Given the description of an element on the screen output the (x, y) to click on. 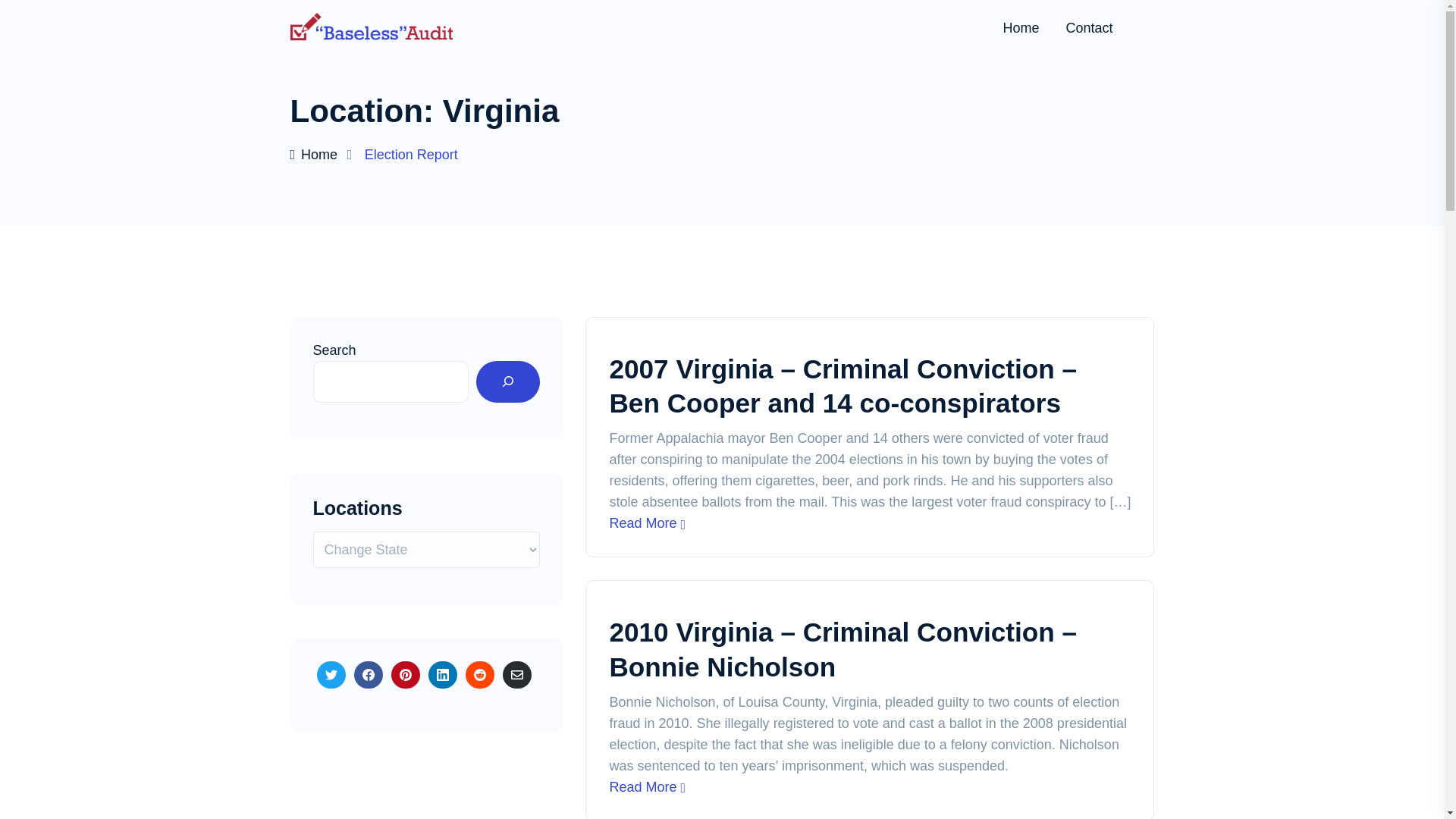
Share on Twitter (331, 674)
Share via Email (516, 674)
Share on Twitter (331, 674)
Share on Facebook (367, 674)
Home (313, 154)
Share on Reddit (480, 674)
Share via Email (516, 674)
Share on Pinterest (405, 674)
Share on LinkedIn (442, 674)
Share on Reddit (480, 674)
Share on LinkedIn (442, 674)
Share on Facebook (367, 674)
Read More (646, 786)
Read More (646, 522)
Share on Pinterest (405, 674)
